Given the description of an element on the screen output the (x, y) to click on. 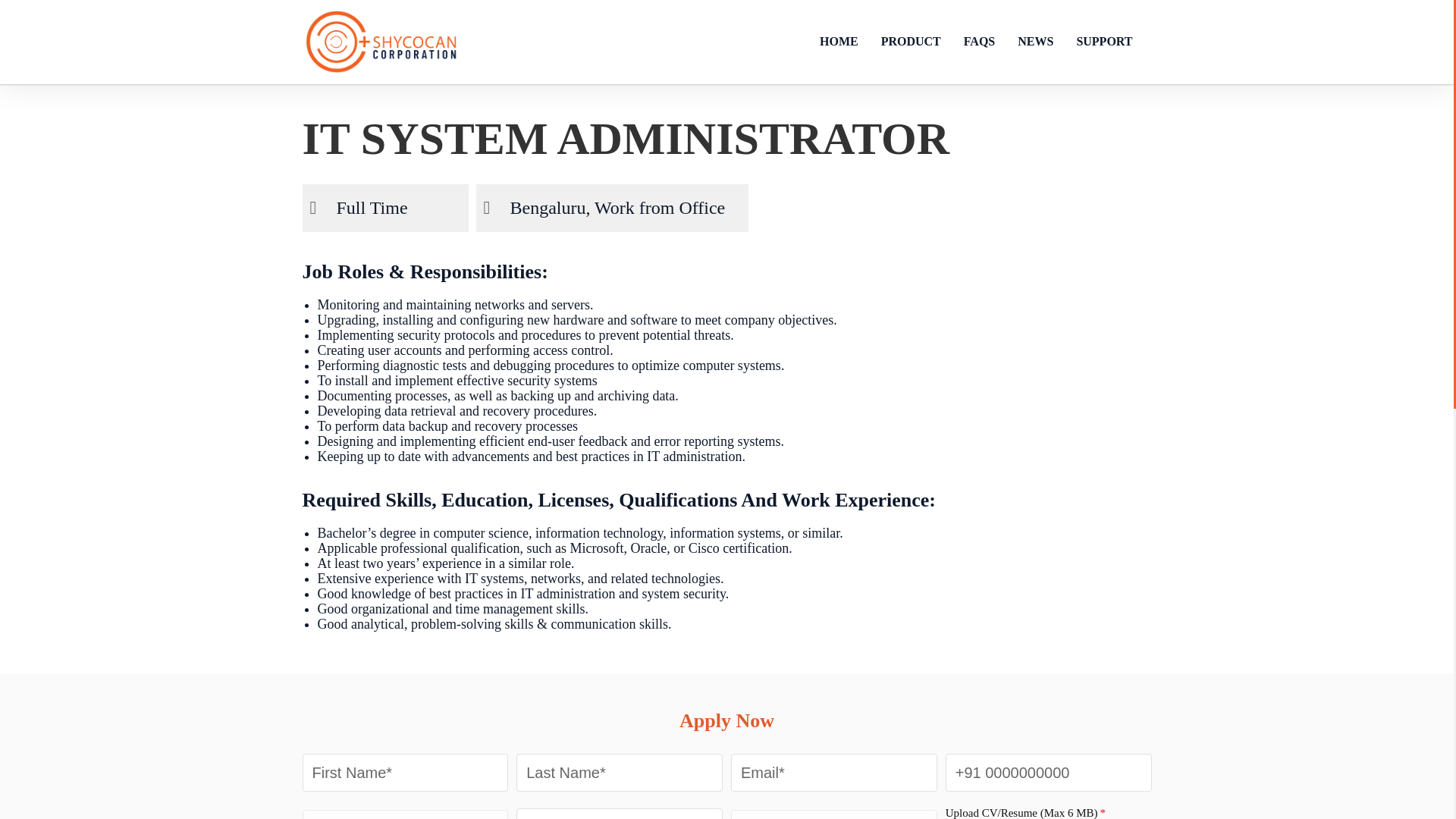
SUPPORT (1107, 41)
PRODUCT (910, 41)
FAQS (979, 41)
NEWS (1035, 41)
HOME (838, 41)
